Given the description of an element on the screen output the (x, y) to click on. 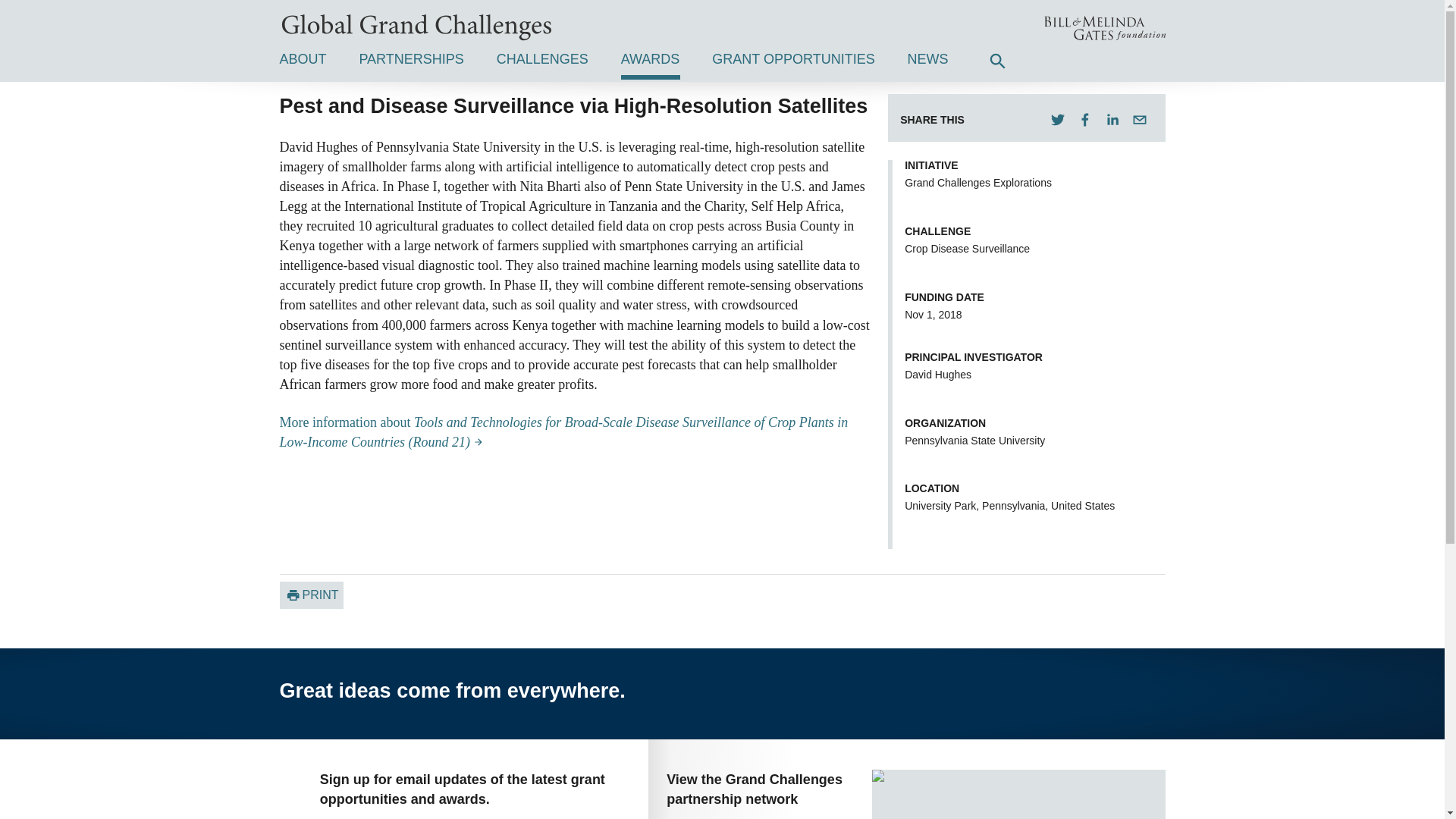
PRINT (310, 595)
PARTNERSHIPS (410, 62)
ABOUT (302, 62)
GRANT OPPORTUNITIES (793, 62)
CHALLENGES (542, 62)
NEWS (928, 62)
AWARDS (650, 62)
